Given the description of an element on the screen output the (x, y) to click on. 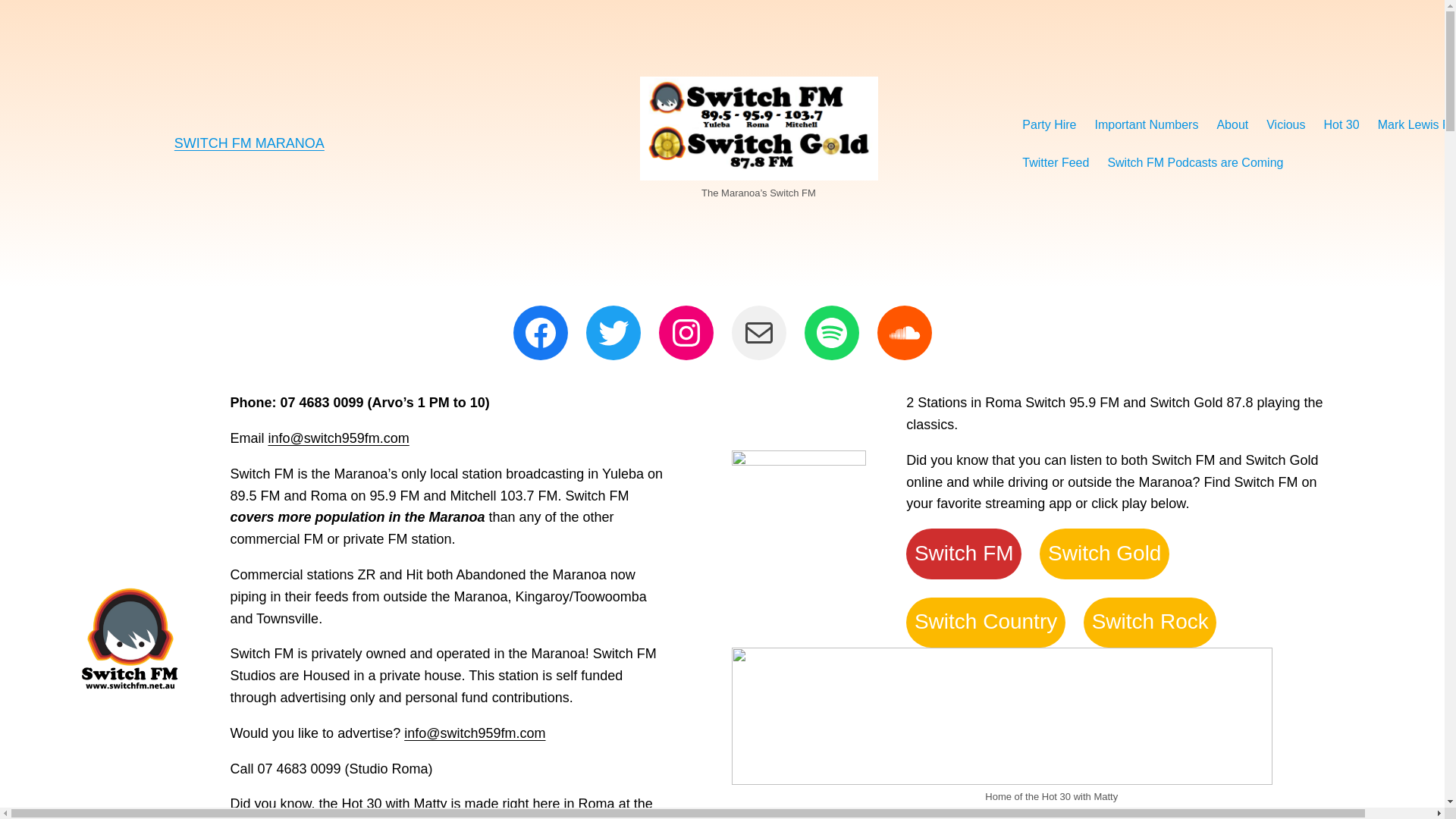
Switch Rock Element type: text (1149, 622)
info@switch959fm.com Element type: text (337, 437)
SWITCH FM MARANOA Element type: text (249, 142)
Spotify Element type: text (830, 332)
Switch FM Podcasts are Coming Element type: text (1195, 162)
info@switch959fm.com Element type: text (474, 732)
Mail Element type: text (758, 332)
Soundcloud Element type: text (903, 332)
Important Numbers Element type: text (1146, 124)
Hot 30 Element type: text (1341, 124)
Facebook Element type: text (539, 332)
Switch FM Element type: text (963, 553)
Vicious Element type: text (1285, 124)
Switch Country Element type: text (985, 622)
Party Hire Element type: text (1049, 124)
Instagram Element type: text (685, 332)
Twitter Element type: text (612, 332)
Switch Gold Element type: text (1104, 553)
About Element type: text (1232, 124)
Twitter Feed Element type: text (1055, 162)
